Given the description of an element on the screen output the (x, y) to click on. 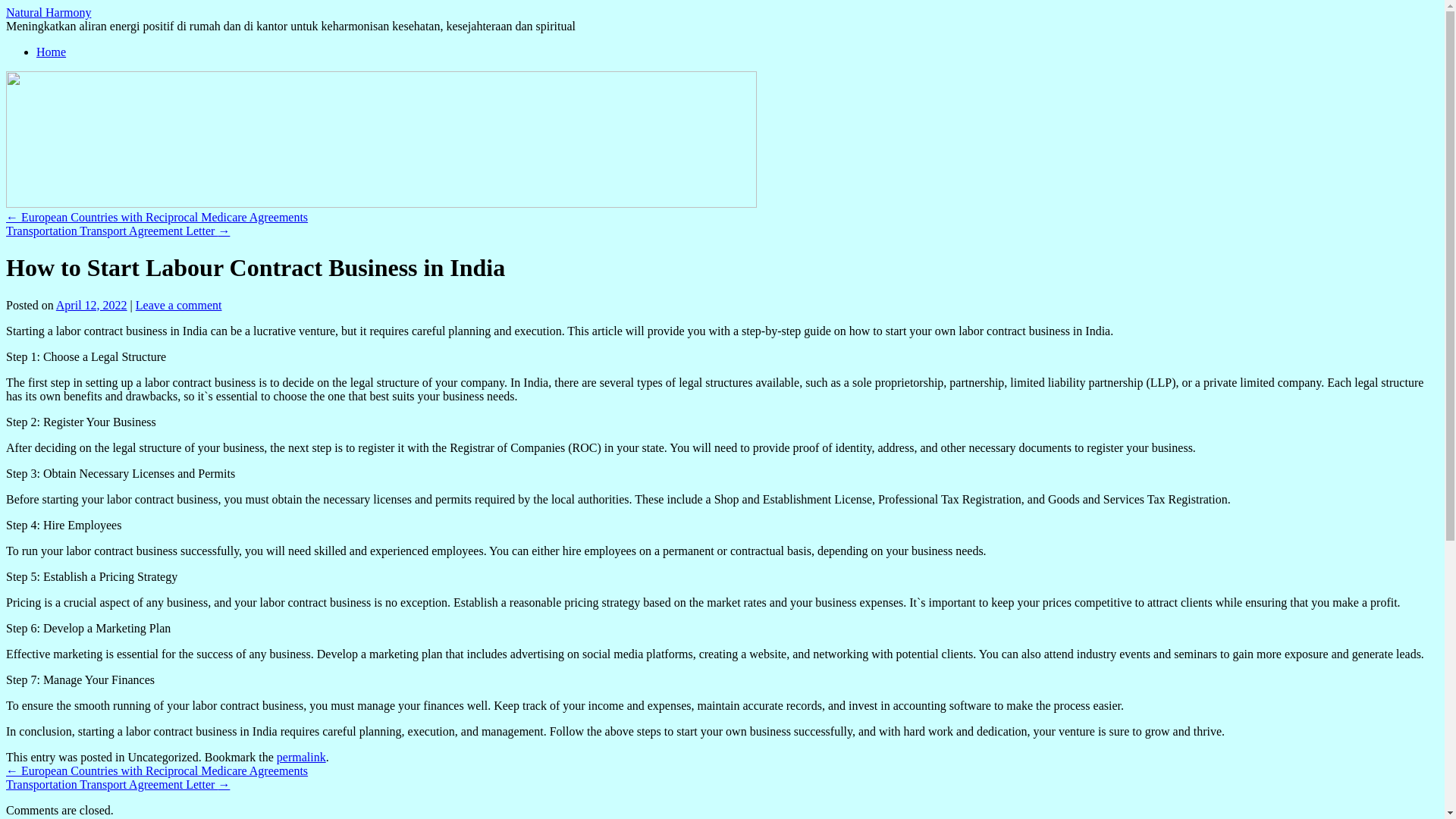
Permalink to How to Start Labour Contract Business in India (301, 757)
Home (50, 51)
April 12, 2022 (92, 305)
11:48 pm (92, 305)
Leave a comment (178, 305)
Natural Harmony (47, 11)
permalink (301, 757)
Natural Harmony (47, 11)
